Given the description of an element on the screen output the (x, y) to click on. 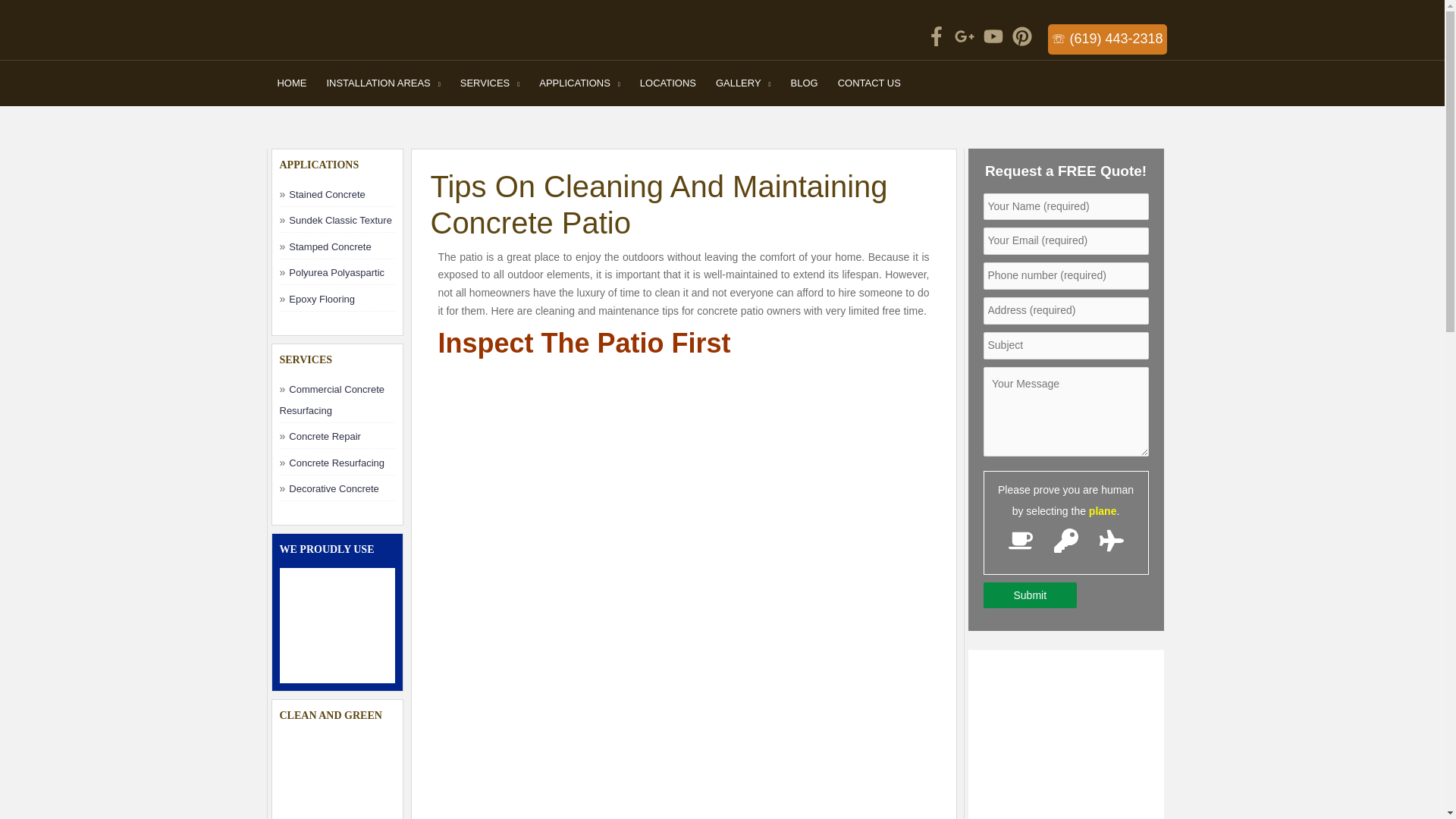
INSTALLATION AREAS (382, 83)
APPLICATIONS (579, 83)
GALLERY (743, 83)
SERVICES (489, 83)
HOME (290, 83)
Submit (1029, 595)
LOCATIONS (668, 83)
